Given the description of an element on the screen output the (x, y) to click on. 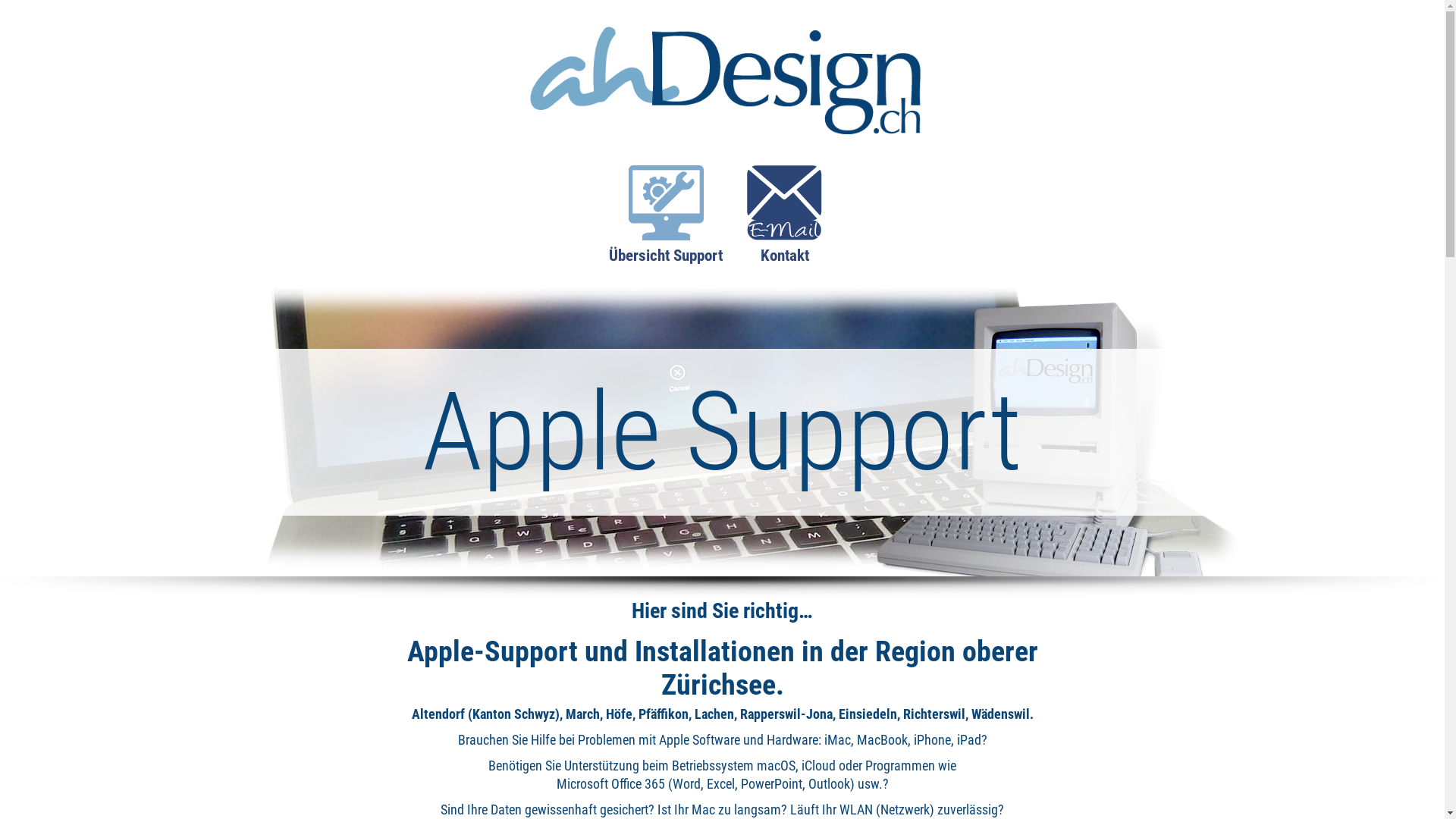
Kontakt Element type: text (784, 223)
